Given the description of an element on the screen output the (x, y) to click on. 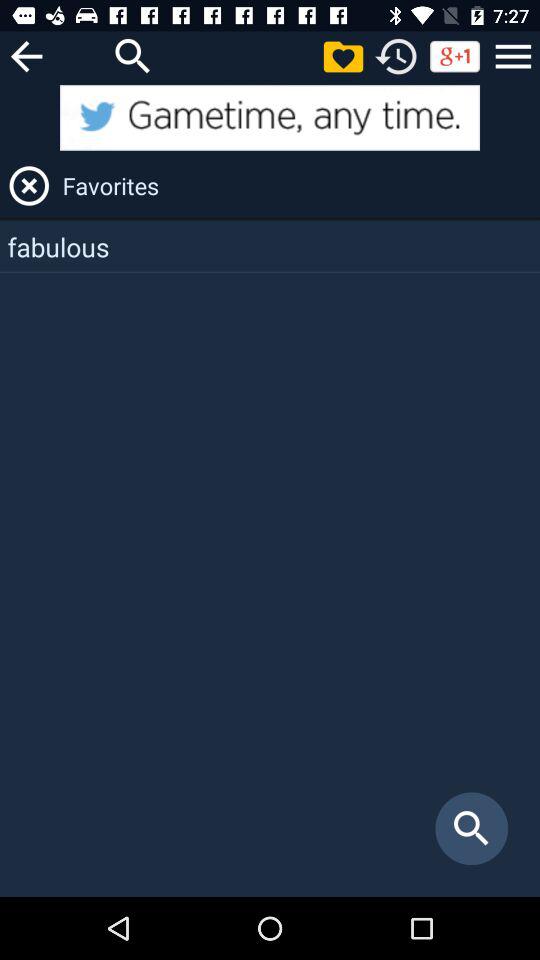
favorite adding button (343, 56)
